Given the description of an element on the screen output the (x, y) to click on. 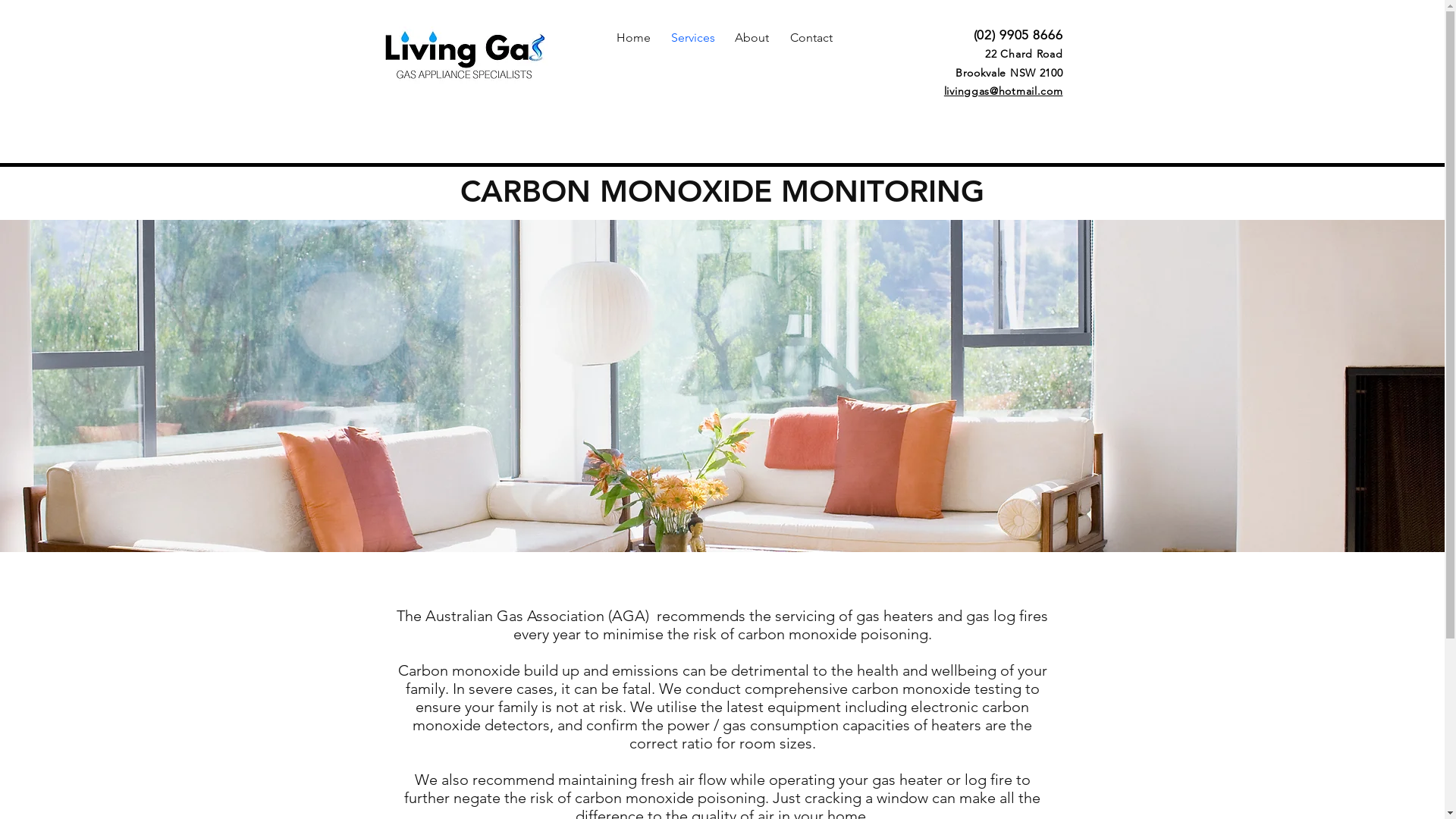
Home Element type: text (632, 37)
About Element type: text (751, 37)
livinggas@hotmail.com Element type: text (1003, 89)
Services Element type: text (691, 37)
Contact Element type: text (810, 37)
